Given the description of an element on the screen output the (x, y) to click on. 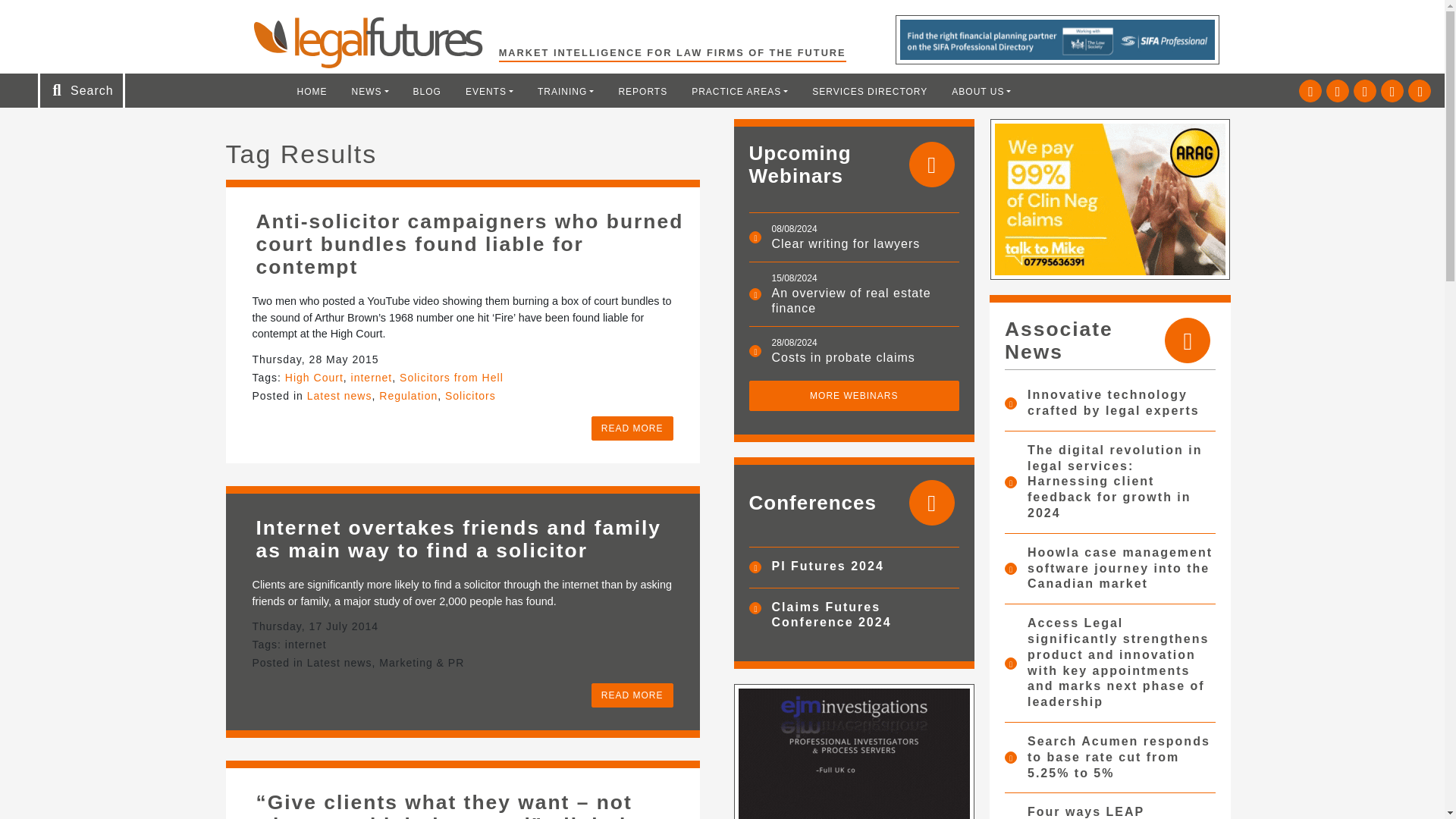
TRAINING (565, 91)
training (565, 91)
Search (51, 16)
See Legal Futures on Facebook-f (1364, 90)
See Legal Futures on Twitter (1310, 90)
Legal Futures homepage (375, 42)
Blog (426, 91)
SERVICES DIRECTORY (869, 91)
Home (312, 91)
PRACTICE AREAS (739, 91)
